Given the description of an element on the screen output the (x, y) to click on. 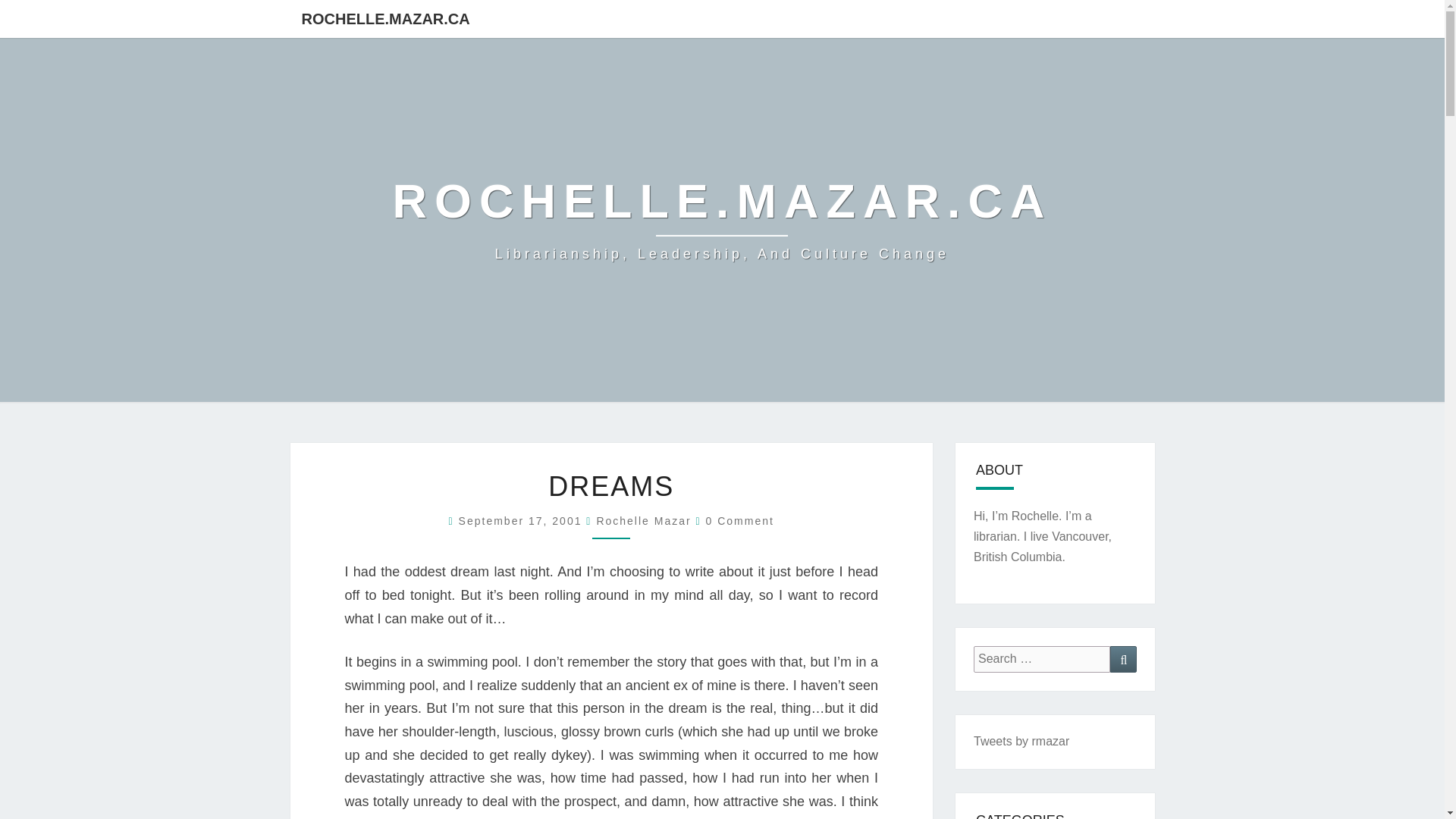
September 17, 2001 (522, 521)
Rochelle Mazar (642, 521)
12:47 am (522, 521)
0 Comment (740, 521)
View all posts by Rochelle Mazar (642, 521)
rochelle.mazar.ca (722, 219)
Search (1123, 659)
ROCHELLE.MAZAR.CA (384, 18)
Tweets by rmazar (1021, 740)
Search for: (1041, 659)
